Given the description of an element on the screen output the (x, y) to click on. 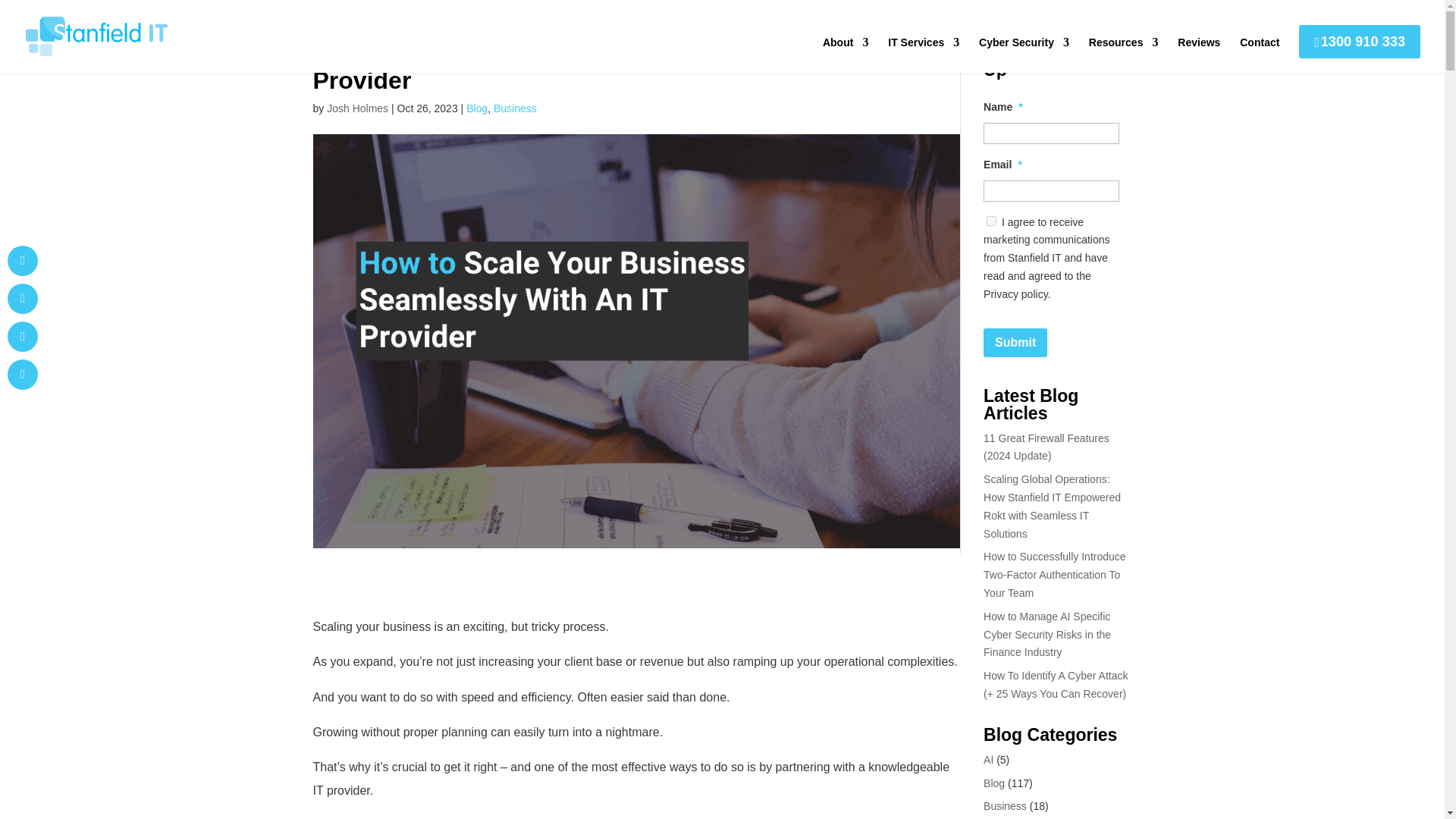
Business (515, 108)
1 (991, 221)
IT Services (923, 54)
Blog (476, 108)
1300 910 333 (1359, 41)
Reviews (1198, 54)
Josh Holmes (357, 108)
About (844, 54)
Submit (1015, 342)
Posts by Josh Holmes (357, 108)
